Given the description of an element on the screen output the (x, y) to click on. 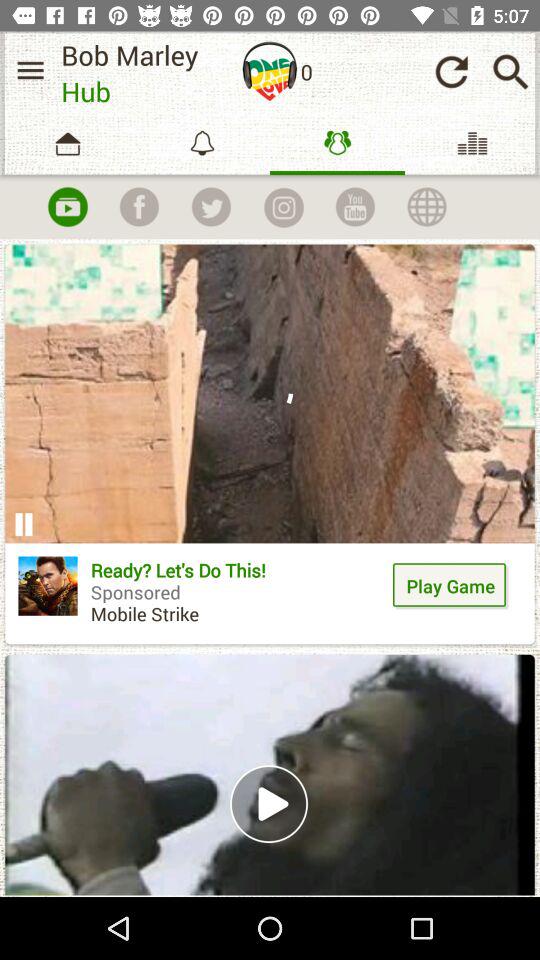
go to home page (269, 71)
